Given the description of an element on the screen output the (x, y) to click on. 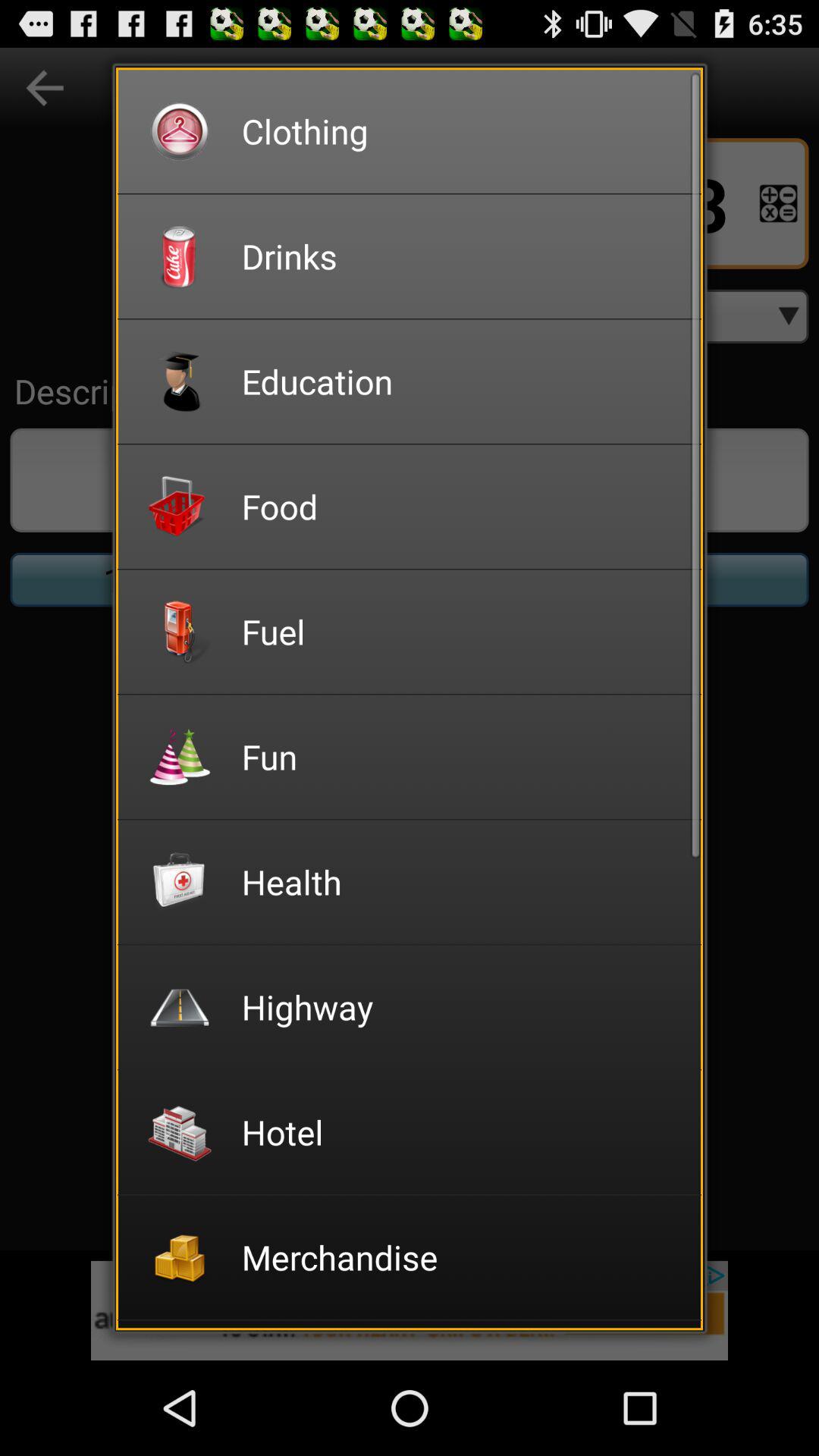
launch fuel (461, 631)
